Given the description of an element on the screen output the (x, y) to click on. 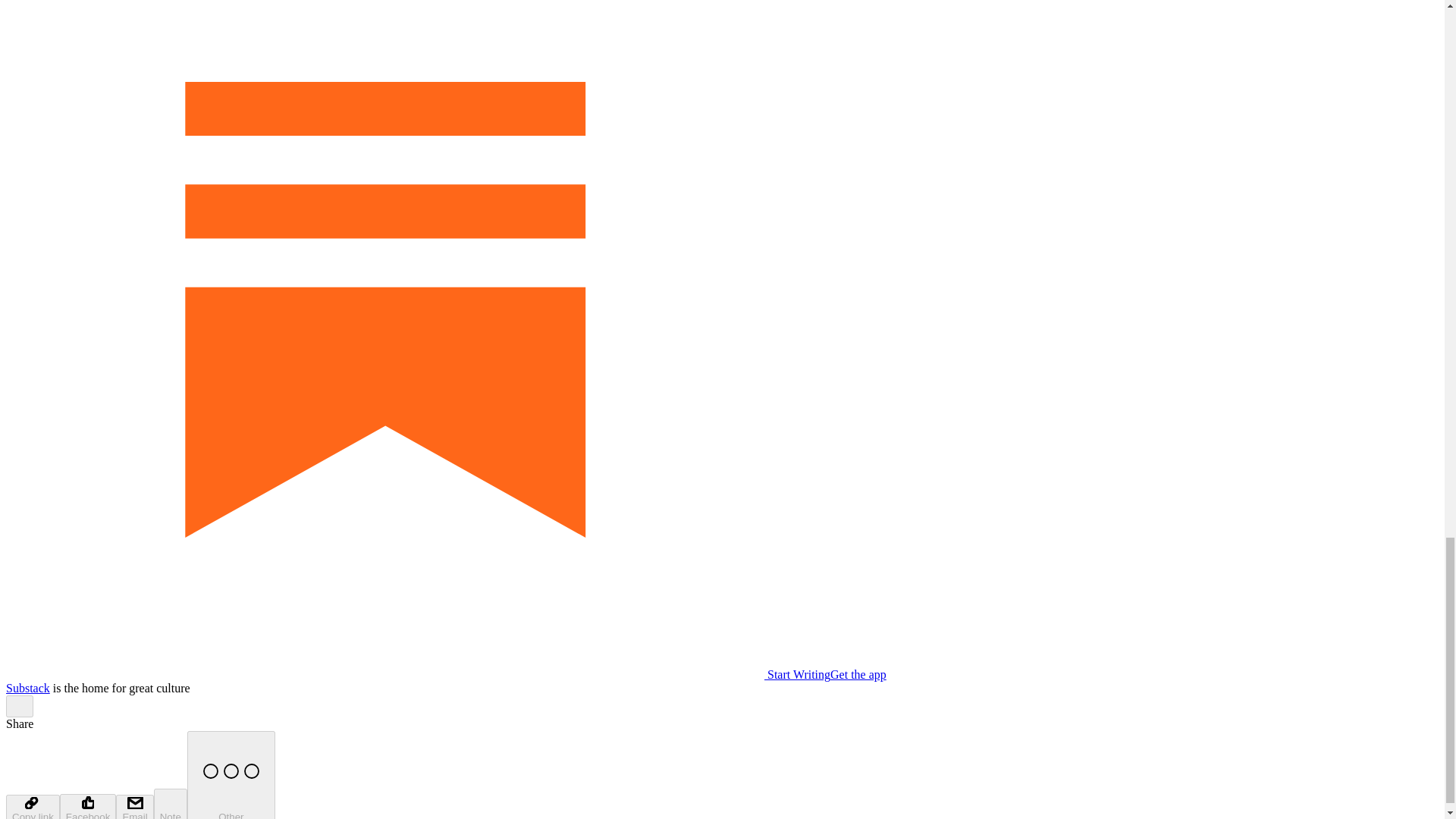
Start Writing (417, 674)
Get the app (857, 674)
Substack (27, 687)
